Given the description of an element on the screen output the (x, y) to click on. 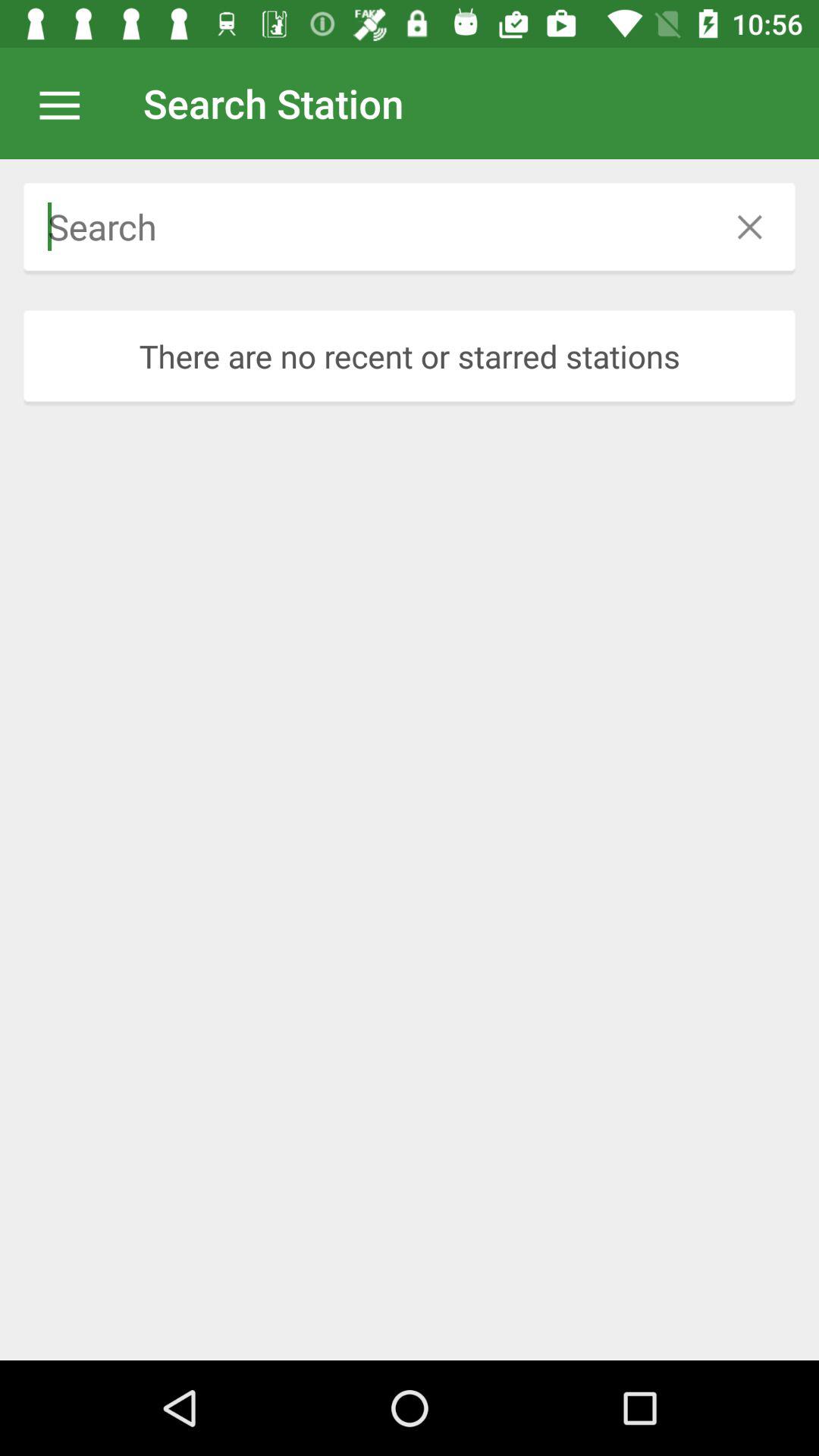
open item above there are no (363, 226)
